Given the description of an element on the screen output the (x, y) to click on. 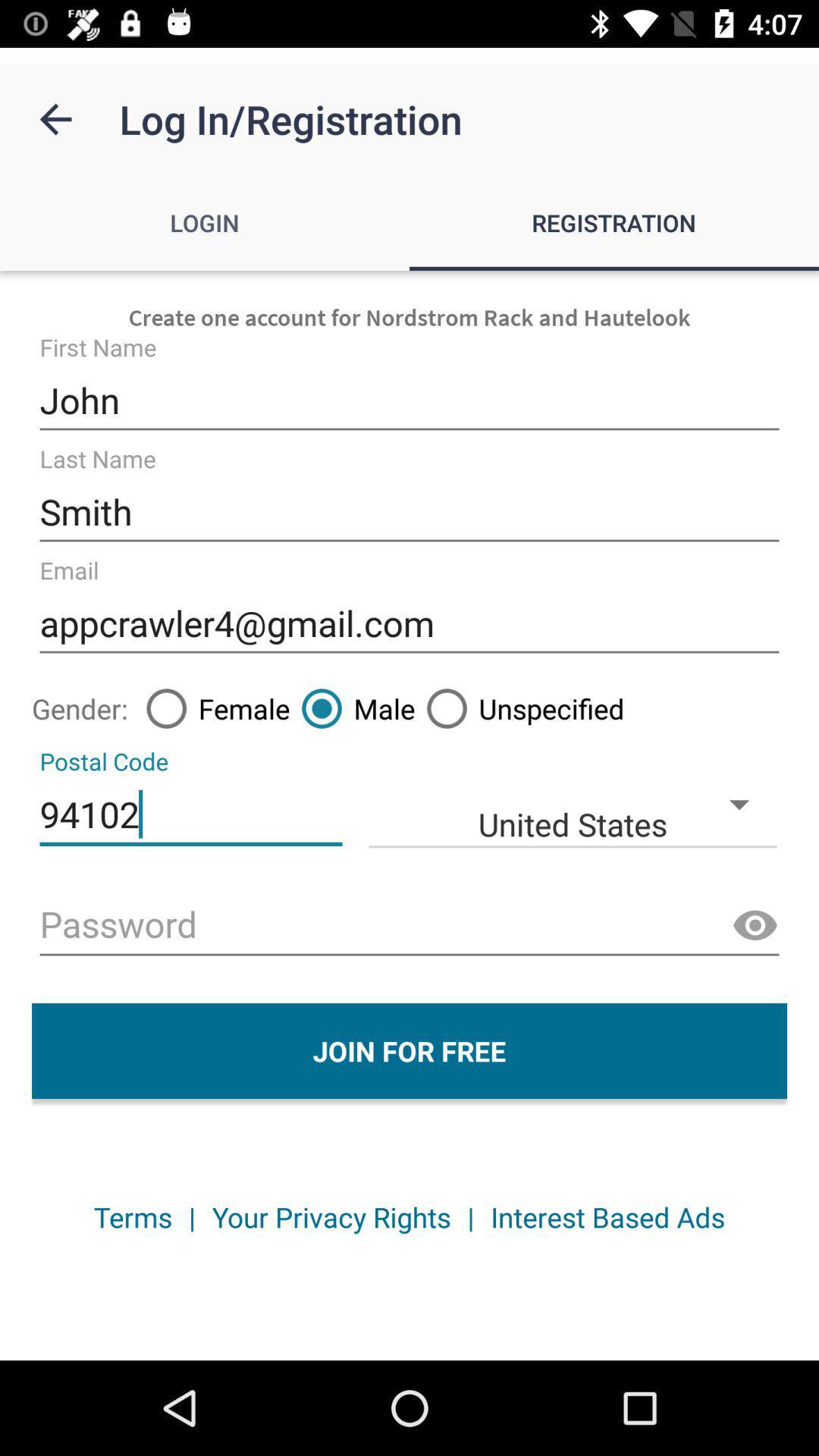
password field (409, 926)
